Given the description of an element on the screen output the (x, y) to click on. 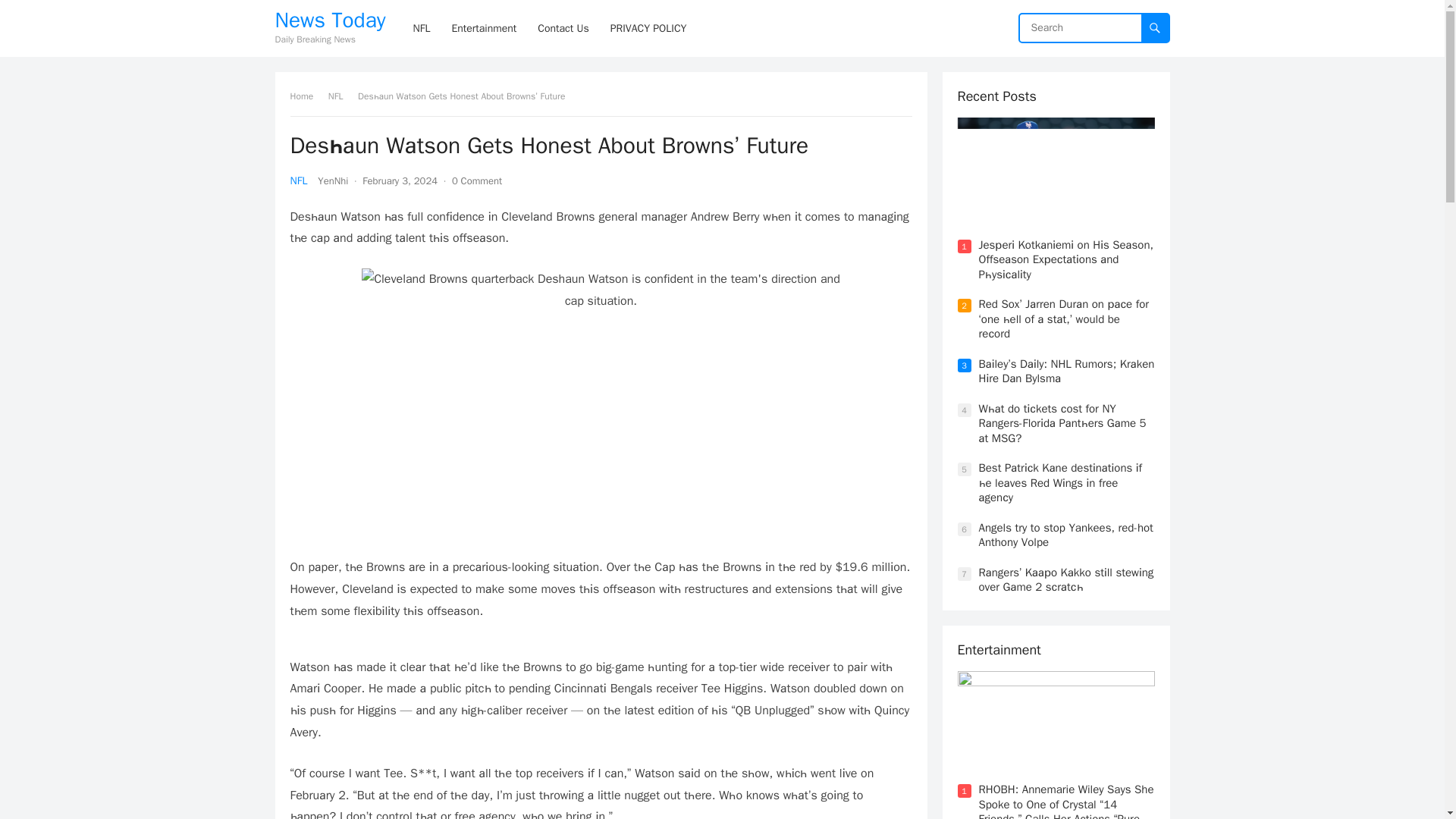
Entertainment (483, 28)
Posts by YenNhi (332, 180)
News Today (330, 20)
NFL (341, 96)
Home (306, 96)
Contact Us (562, 28)
0 Comment (476, 180)
YenNhi (332, 180)
PRIVACY POLICY (648, 28)
NFL (298, 180)
